Given the description of an element on the screen output the (x, y) to click on. 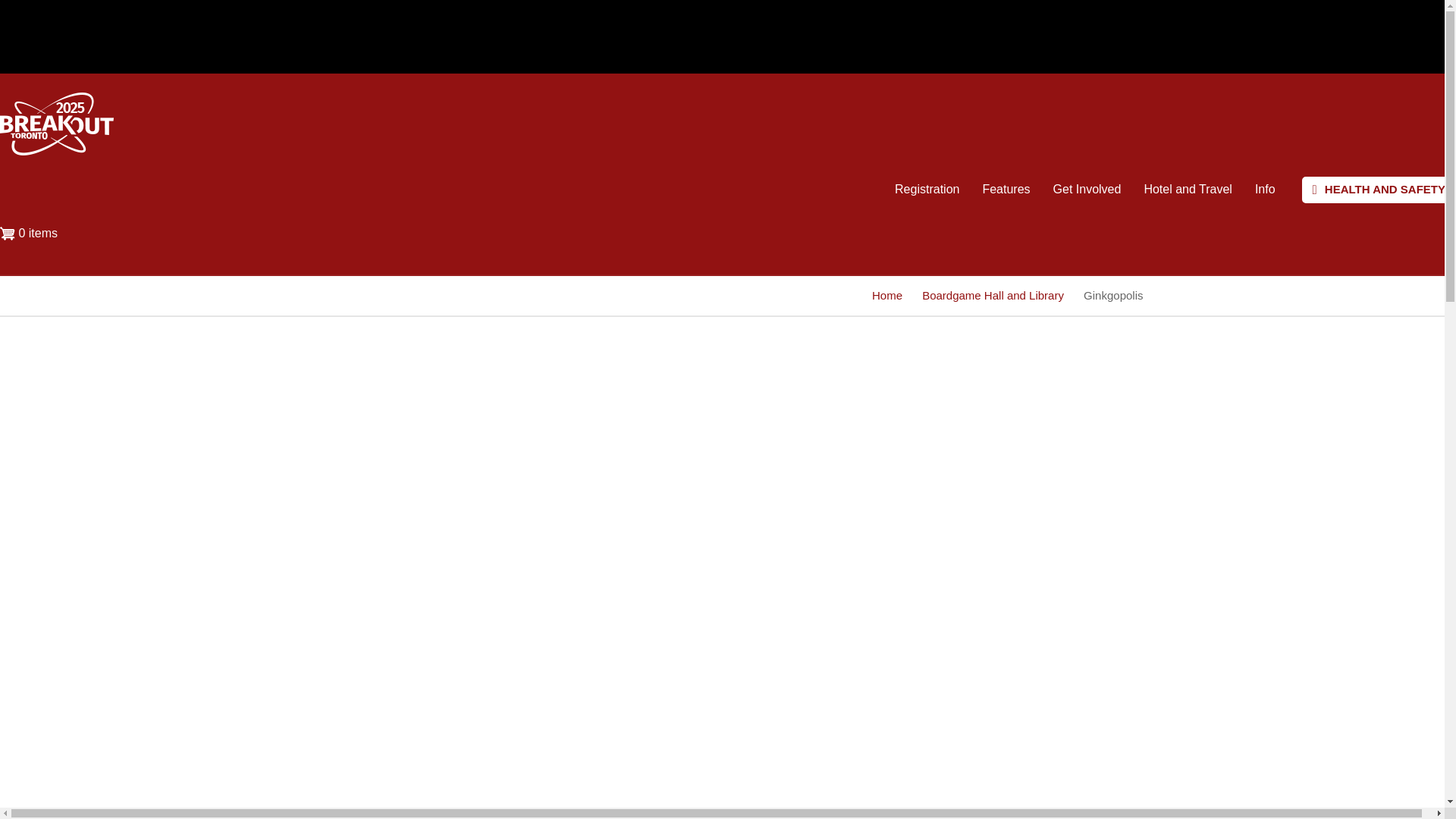
Boardgame Hall and Library (992, 295)
0 items (34, 235)
Home (56, 151)
Hotel and Travel (1187, 190)
Home (887, 295)
